Given the description of an element on the screen output the (x, y) to click on. 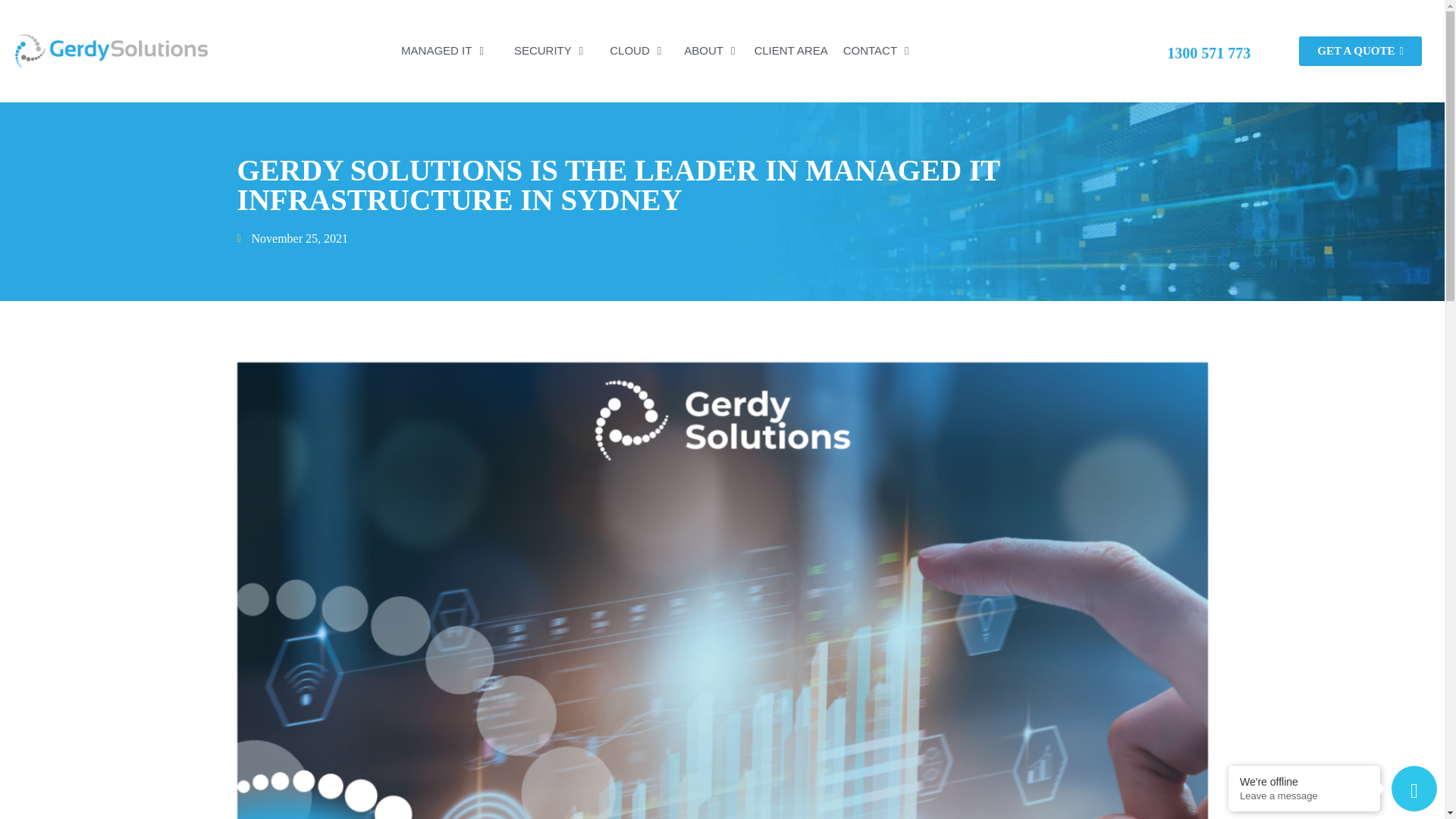
SECURITY (548, 50)
We're offline (1304, 781)
CLOUD (626, 50)
ABOUT (703, 50)
MANAGED IT (442, 50)
CLIENT AREA (789, 50)
CONTACT (876, 50)
Leave a message (1304, 795)
